Given the description of an element on the screen output the (x, y) to click on. 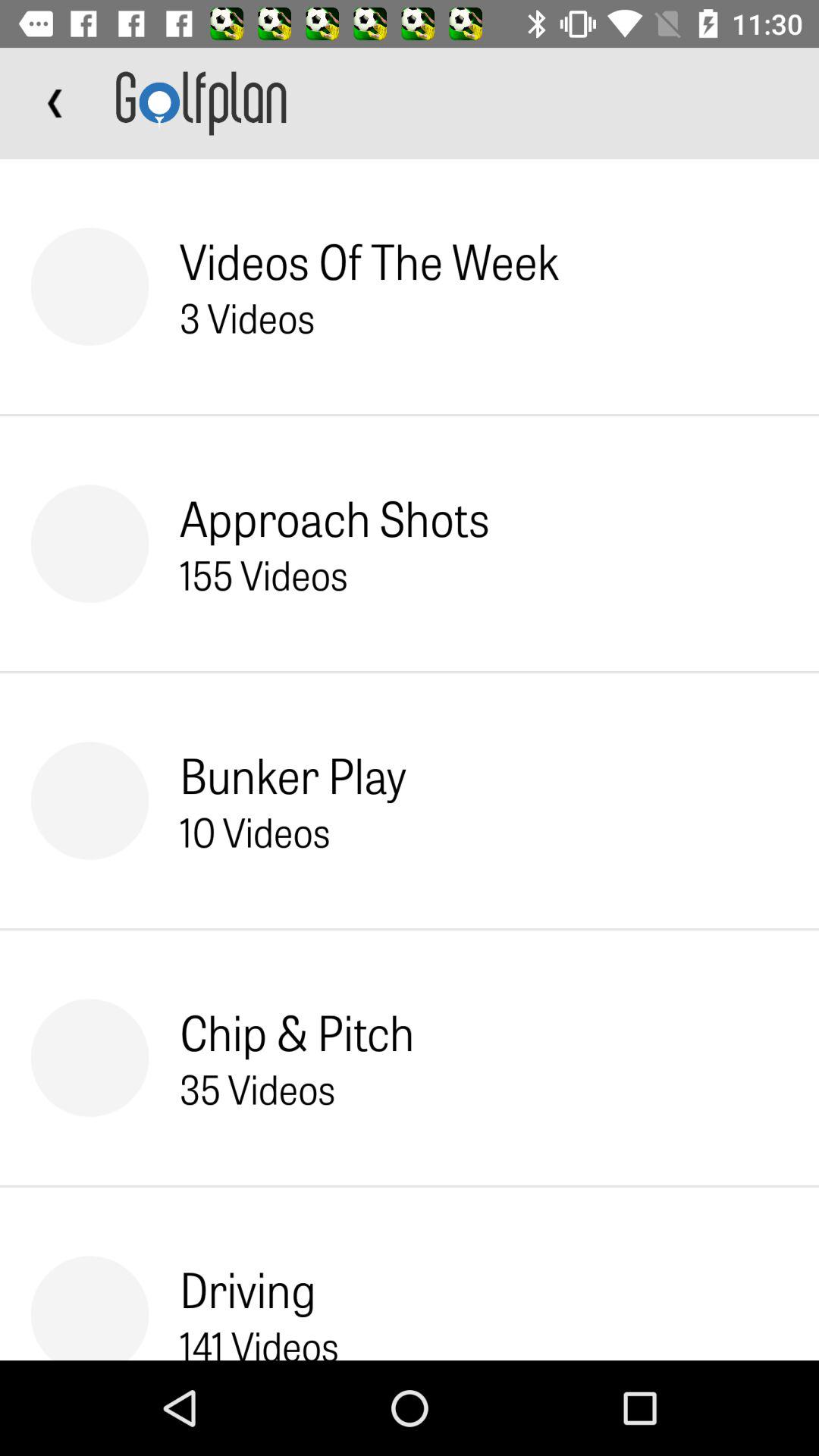
swipe until the 141 videos icon (258, 1340)
